Given the description of an element on the screen output the (x, y) to click on. 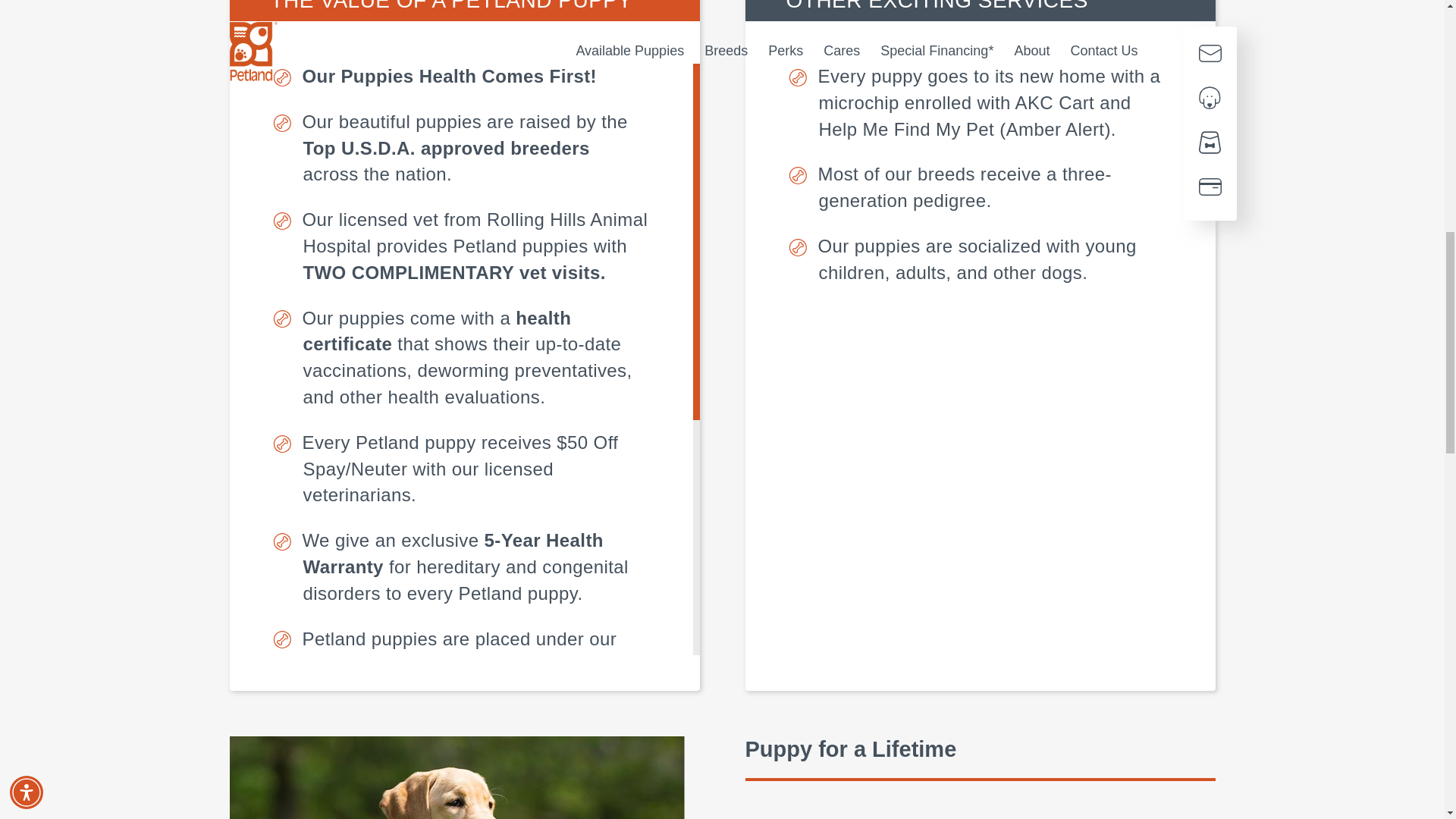
THE VALUE OF A PETLAND PUPPY (463, 10)
OTHER EXCITING SERVICES (979, 10)
